Given the description of an element on the screen output the (x, y) to click on. 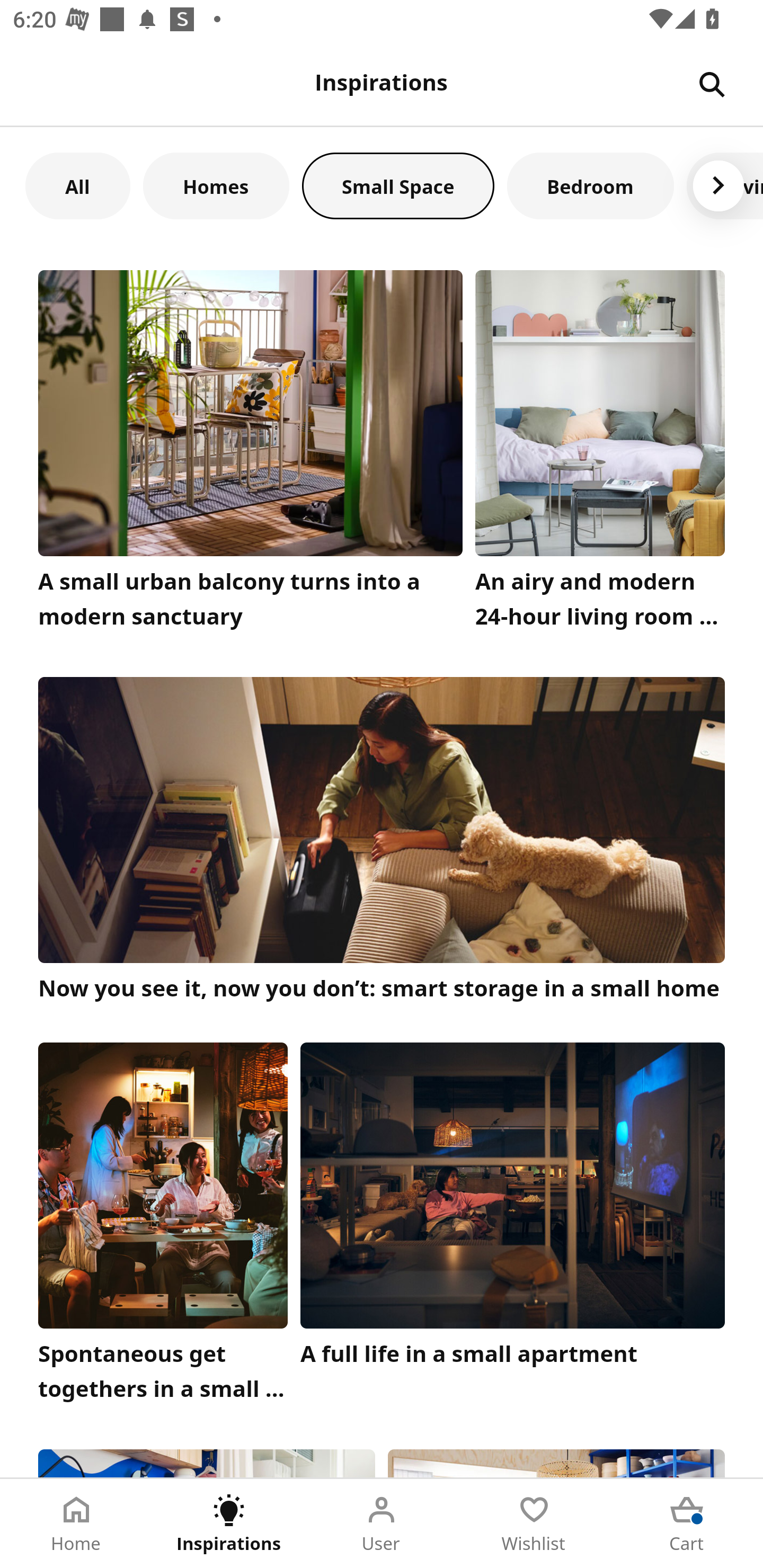
All (77, 185)
Homes (216, 185)
Small Space (398, 185)
Bedroom (590, 185)
An airy and modern 24-hour living room oasis (599, 453)
Spontaneous get togethers in a small apartment (162, 1226)
A full life in a small apartment (512, 1226)
Home
Tab 1 of 5 (76, 1522)
Inspirations
Tab 2 of 5 (228, 1522)
User
Tab 3 of 5 (381, 1522)
Wishlist
Tab 4 of 5 (533, 1522)
Cart
Tab 5 of 5 (686, 1522)
